Given the description of an element on the screen output the (x, y) to click on. 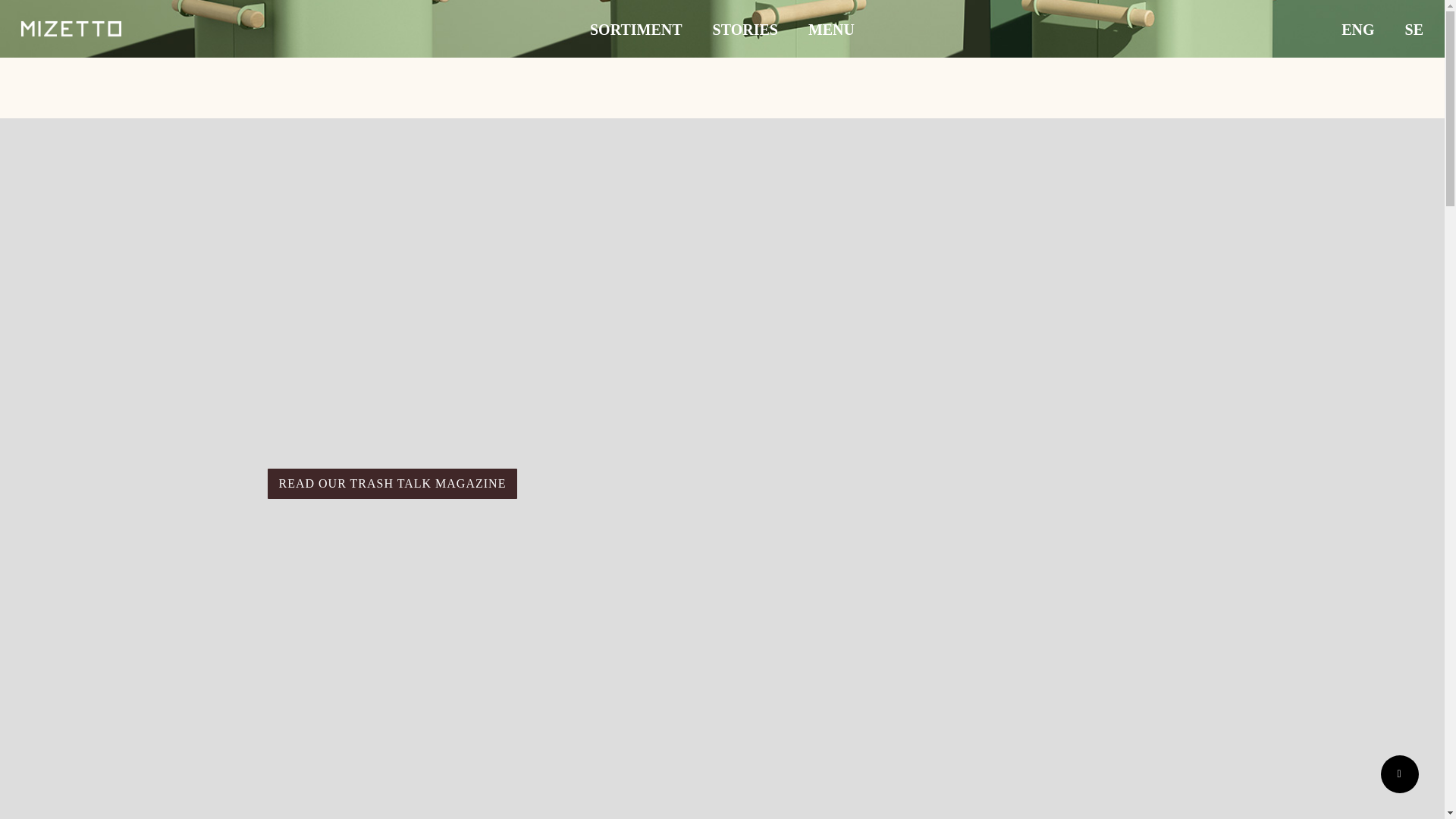
Eng (1357, 29)
Se (1414, 29)
SORTIMENT (635, 29)
